Given the description of an element on the screen output the (x, y) to click on. 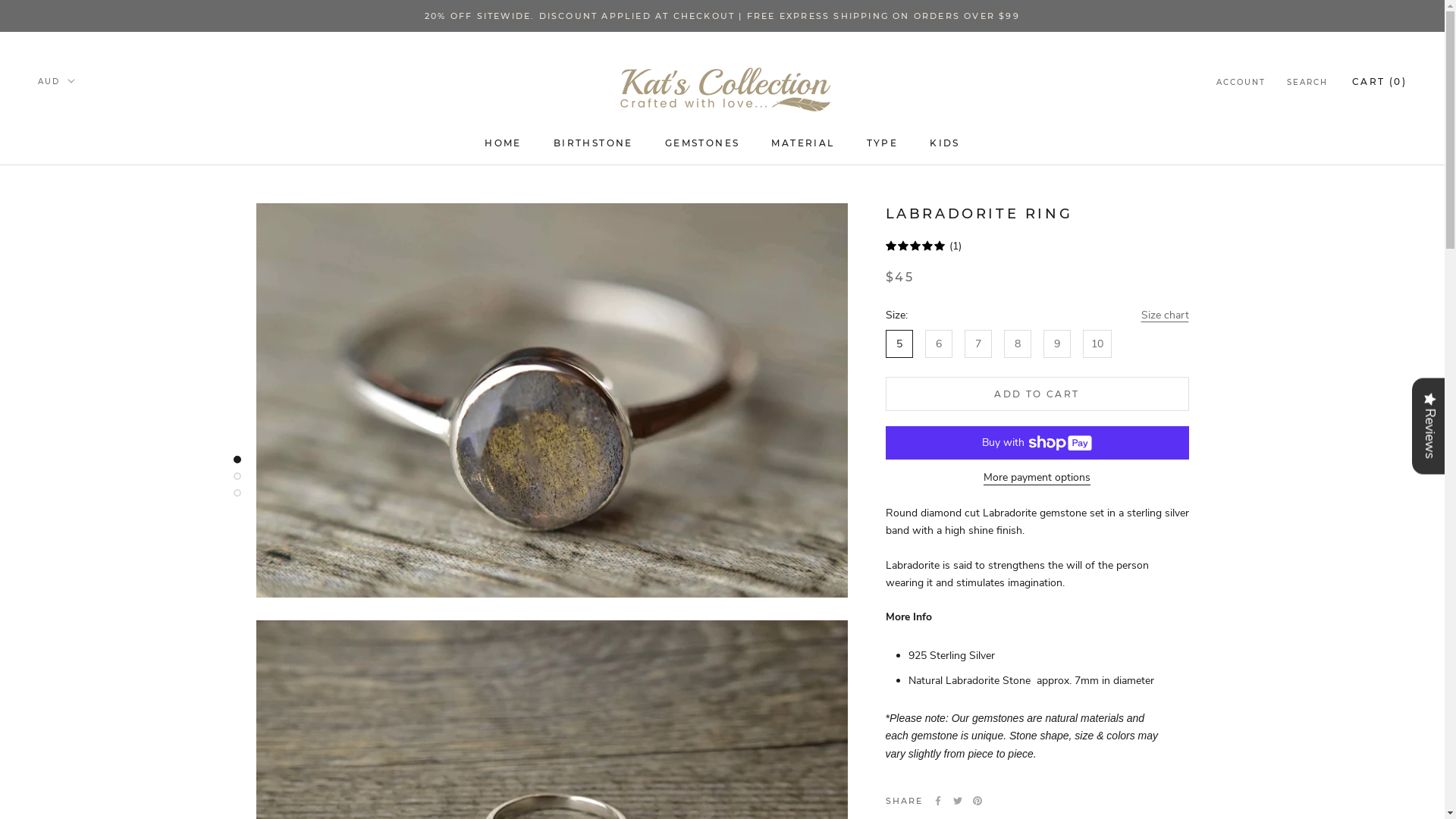
BIRTHSTONE Element type: text (593, 142)
KIDS
KIDS Element type: text (944, 142)
 (1) Element type: text (1037, 247)
CART (0) Element type: text (1379, 81)
ADD TO CART Element type: text (1037, 393)
Size chart Element type: text (1164, 314)
TYPE Element type: text (882, 142)
SEARCH Element type: text (1306, 82)
GEMSTONES Element type: text (702, 142)
MATERIAL Element type: text (802, 142)
More payment options Element type: text (1036, 477)
HOME
HOME Element type: text (502, 142)
ACCOUNT Element type: text (1240, 82)
